Given the description of an element on the screen output the (x, y) to click on. 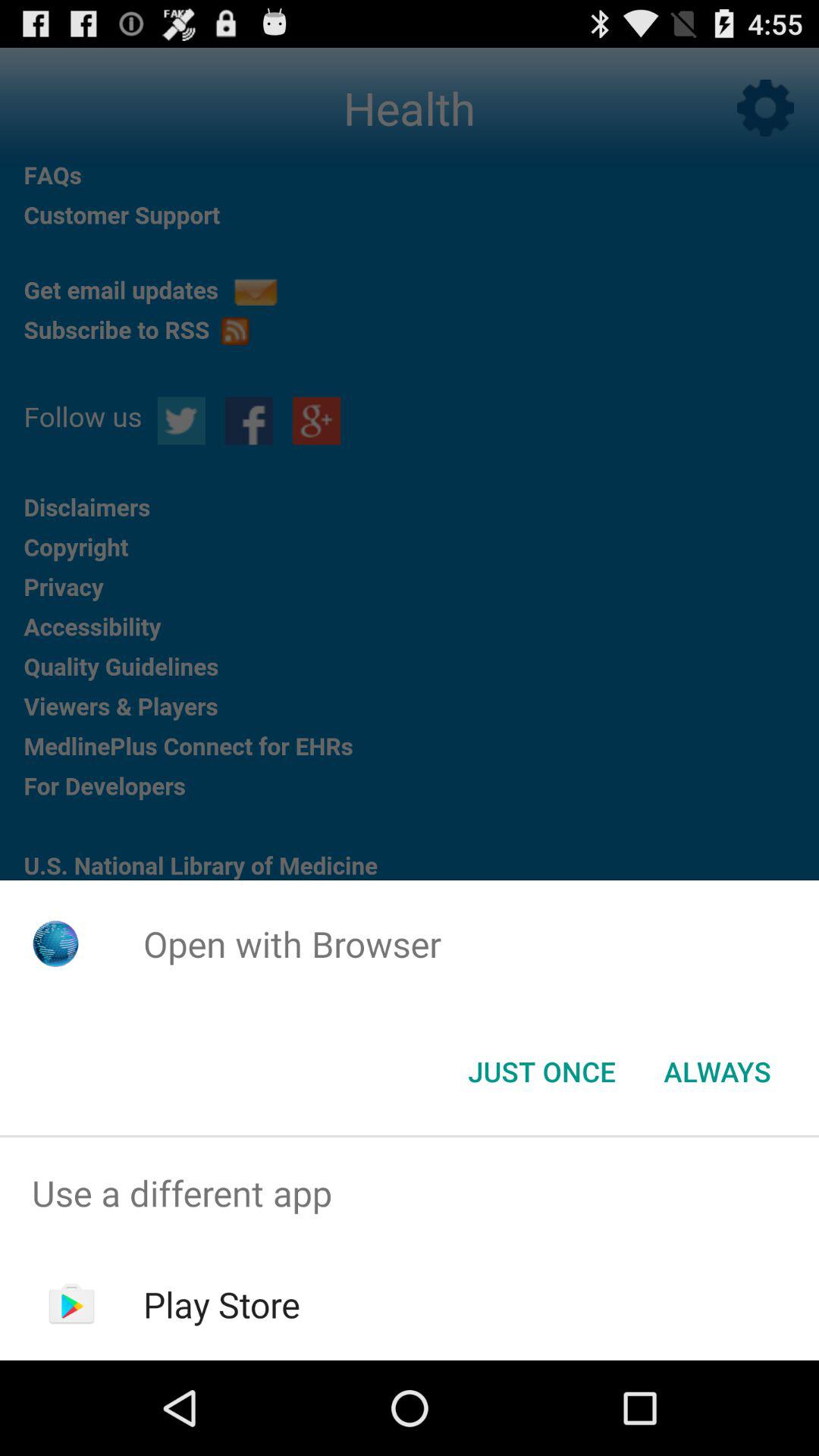
click always (717, 1071)
